Given the description of an element on the screen output the (x, y) to click on. 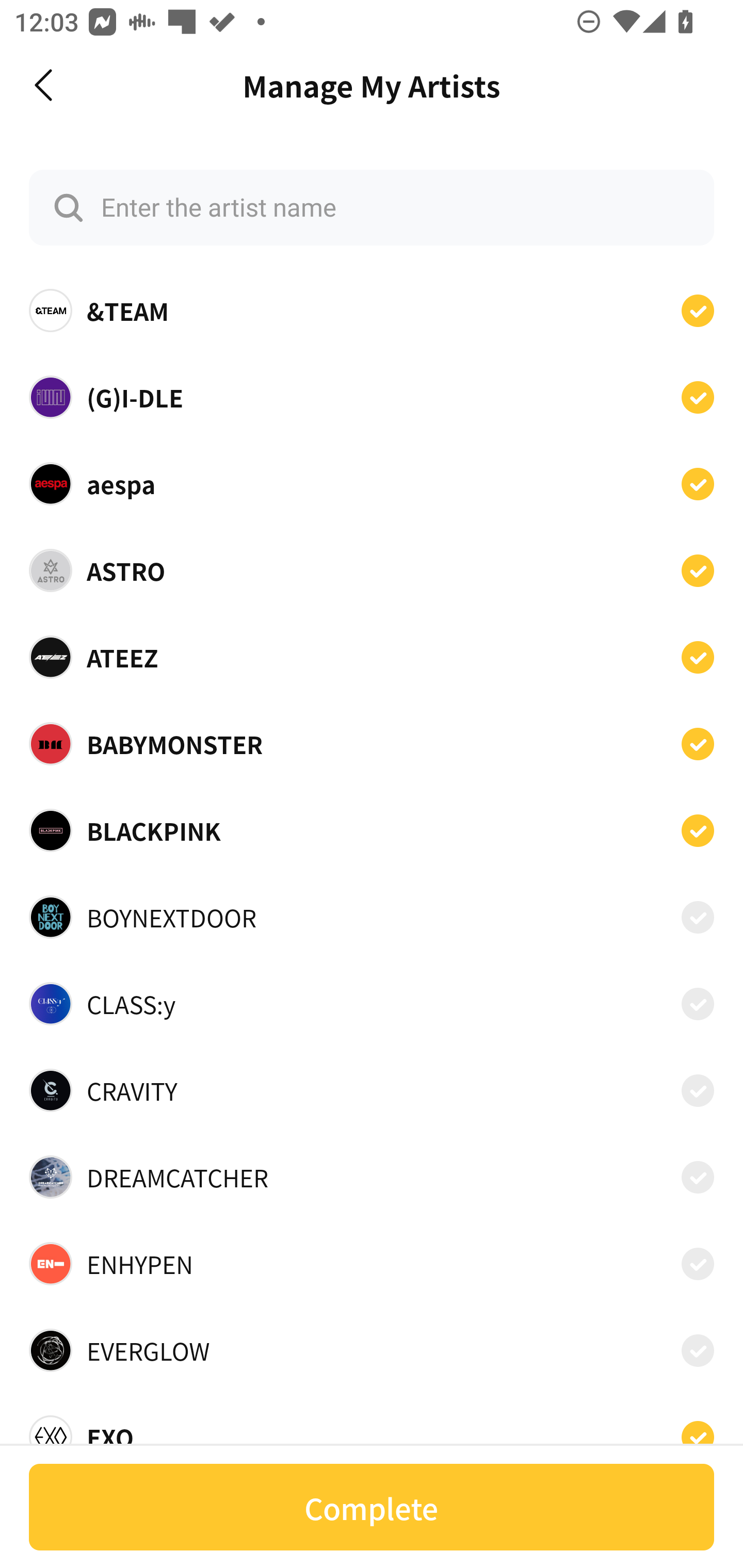
Enter the artist name (371, 207)
&TEAM (371, 310)
(G)I-DLE (371, 396)
aespa (371, 483)
ASTRO (371, 570)
ATEEZ (371, 656)
BABYMONSTER (371, 743)
BLACKPINK (371, 830)
BOYNEXTDOOR (371, 917)
CLASS:y (371, 1003)
CRAVITY (371, 1090)
DREAMCATCHER (371, 1176)
ENHYPEN (371, 1263)
EVERGLOW (371, 1350)
EXO (371, 1430)
Complete (371, 1507)
